Given the description of an element on the screen output the (x, y) to click on. 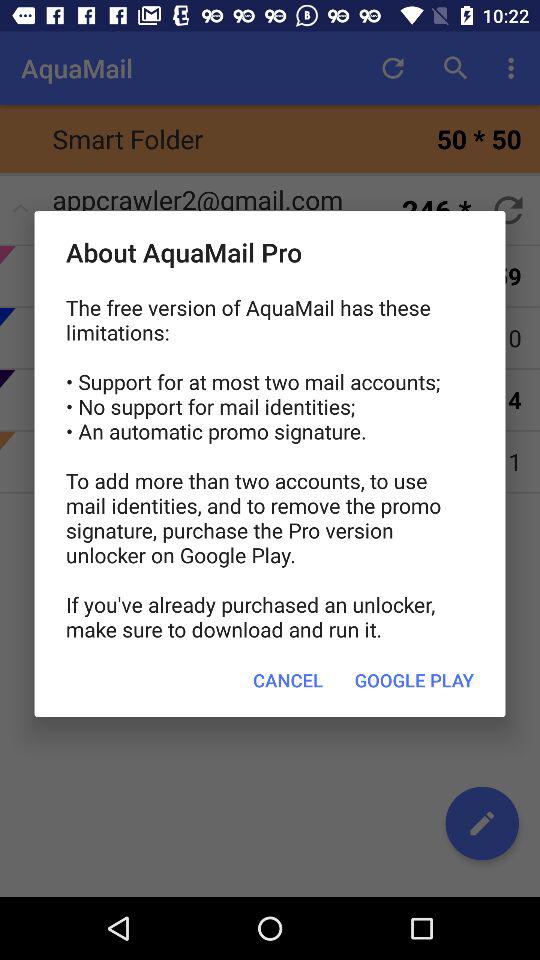
jump until the cancel (287, 679)
